Given the description of an element on the screen output the (x, y) to click on. 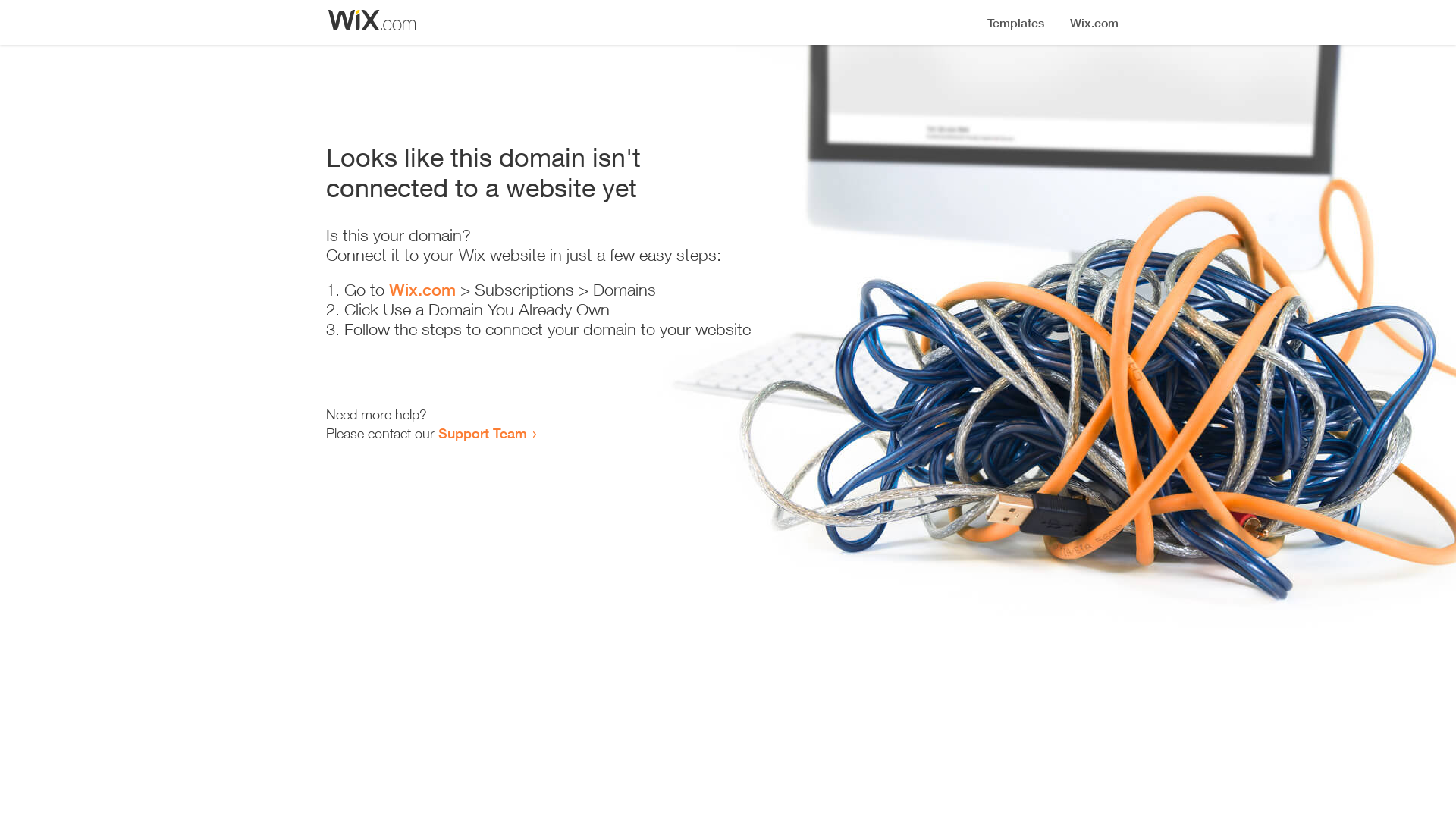
Wix.com Element type: text (422, 289)
Support Team Element type: text (482, 432)
